Given the description of an element on the screen output the (x, y) to click on. 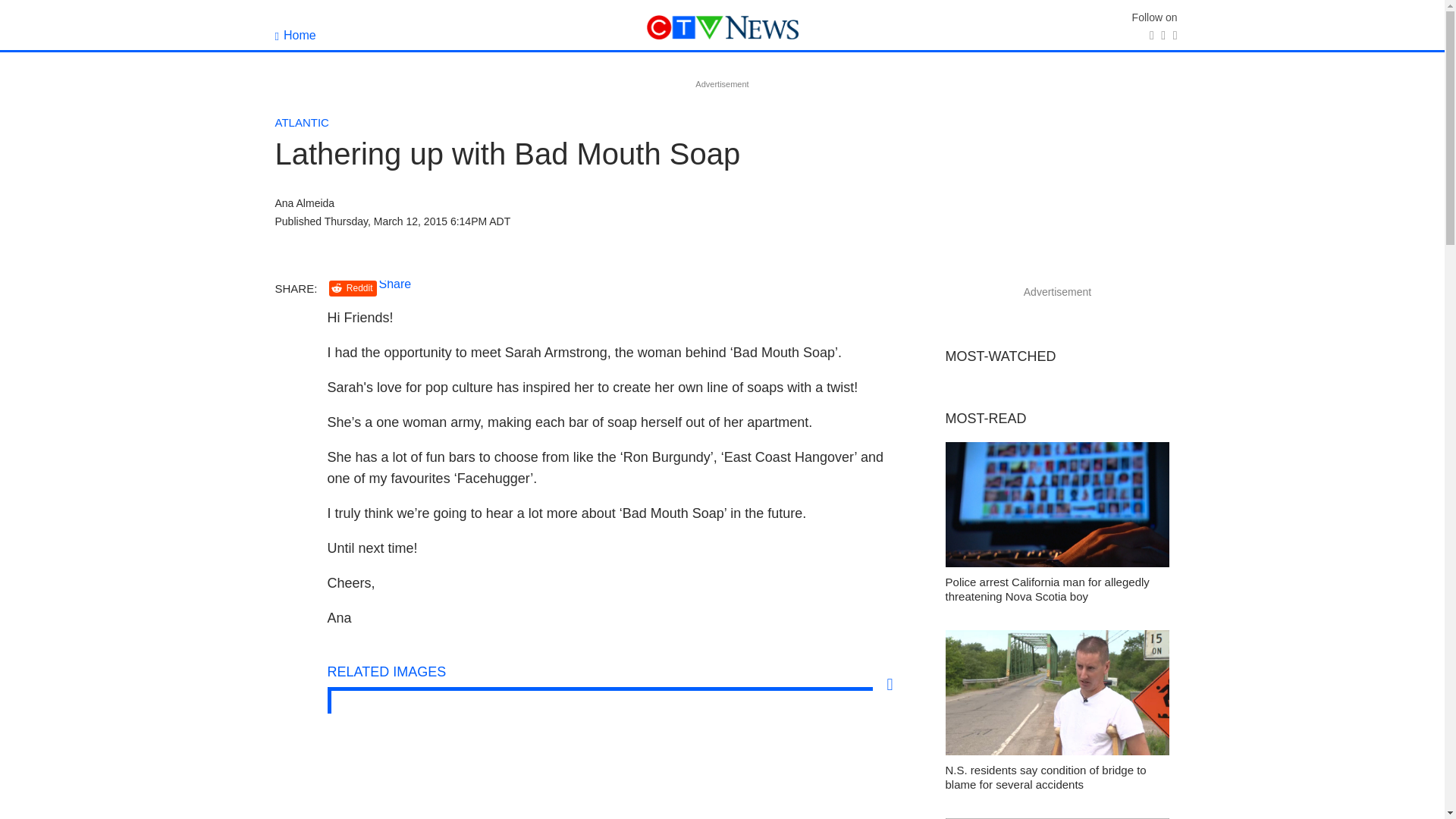
Reddit (353, 288)
ATLANTIC (302, 122)
Home (295, 34)
Share (395, 283)
